Given the description of an element on the screen output the (x, y) to click on. 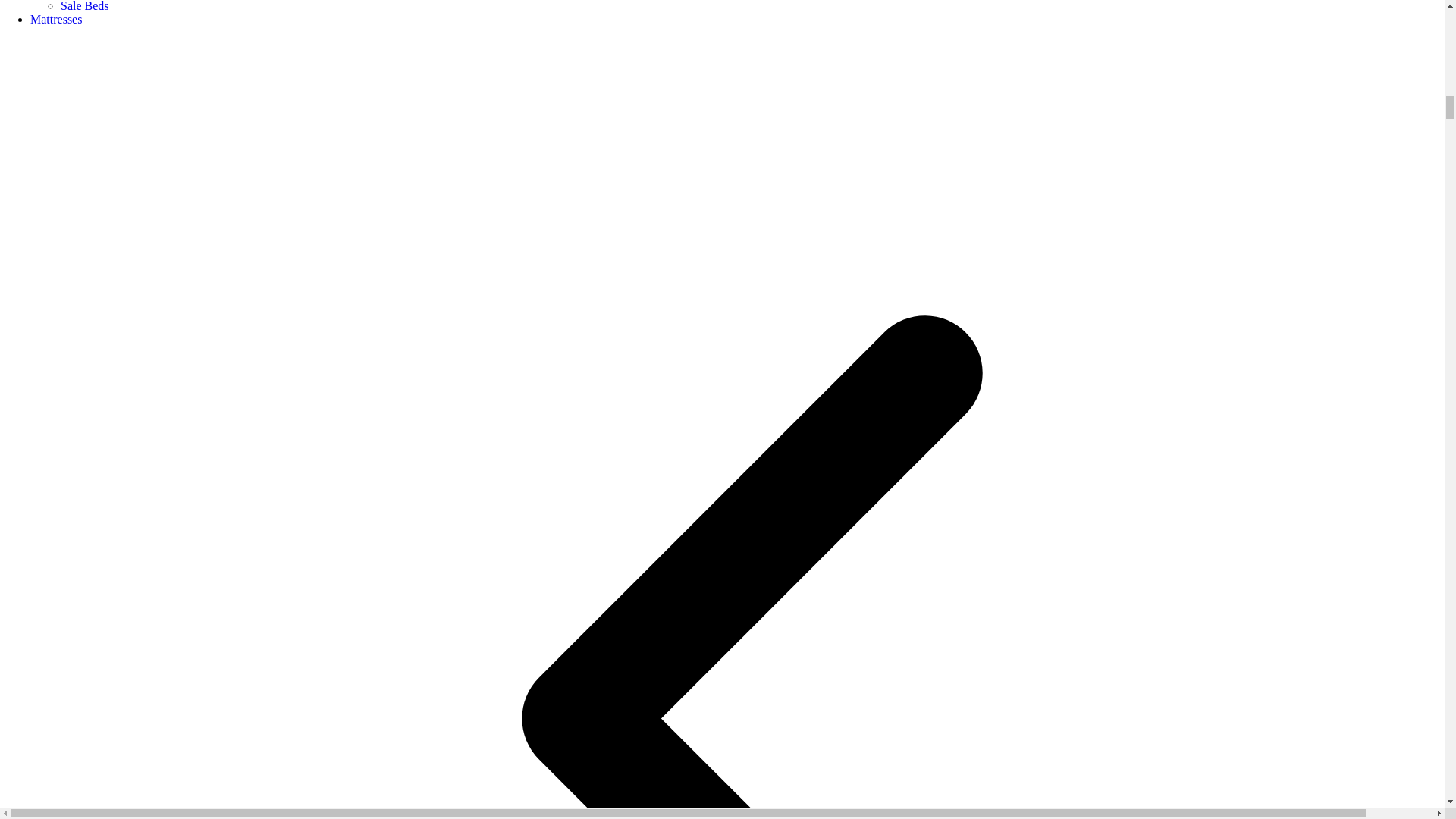
Sale Beds (85, 6)
Mattresses (55, 19)
